Given the description of an element on the screen output the (x, y) to click on. 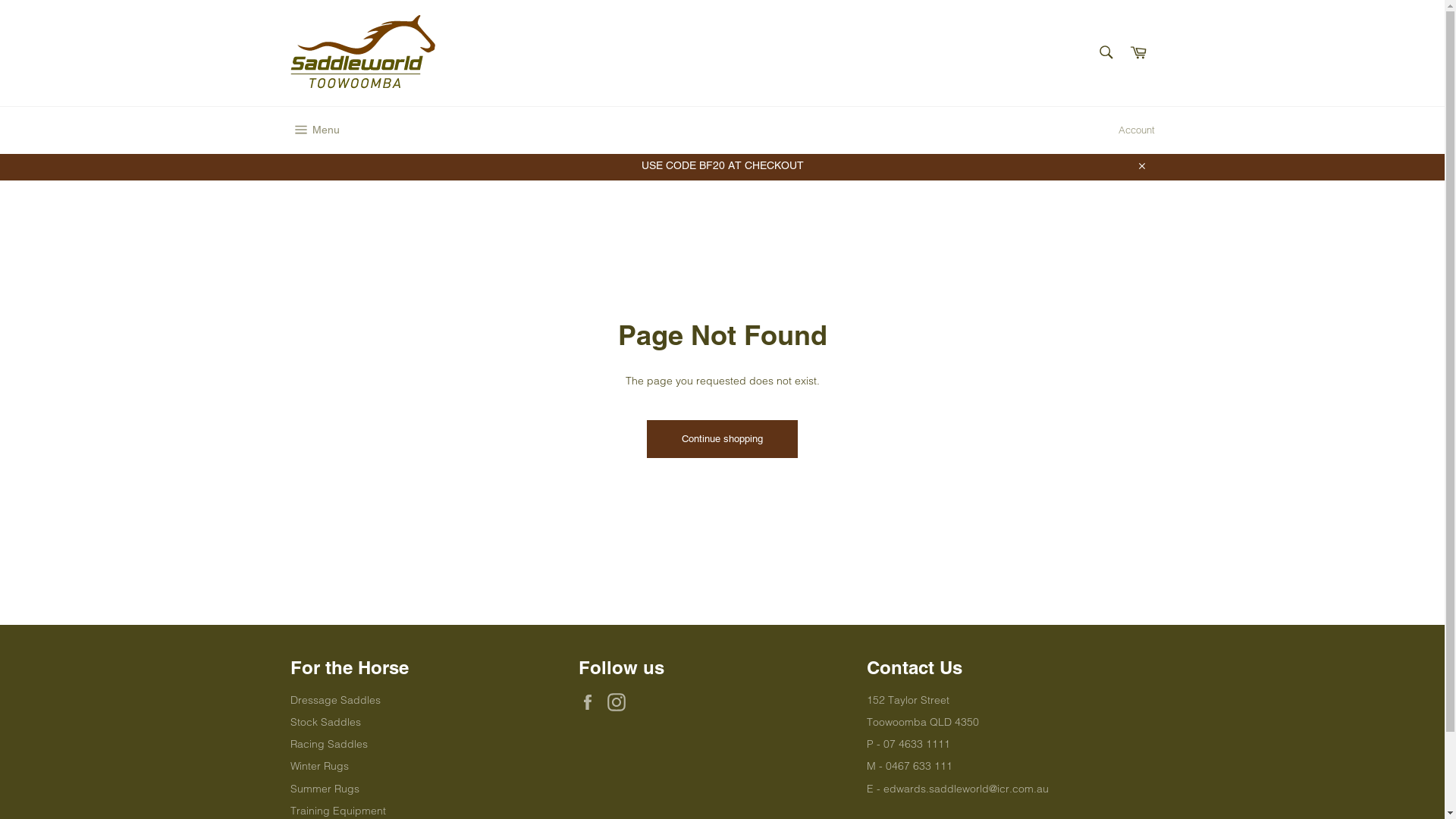
Instagram Element type: text (619, 702)
Dressage Saddles Element type: text (334, 699)
edwards.saddleworld@icr.com.au Element type: text (965, 788)
0467 633 111 Element type: text (918, 765)
Menu
Site navigation Element type: text (314, 129)
Facebook Element type: text (590, 702)
07 4633 1111 Element type: text (915, 743)
Winter Rugs Element type: text (318, 765)
Training Equipment Element type: text (337, 810)
Continue shopping Element type: text (721, 439)
Search Element type: text (1105, 52)
Racing Saddles Element type: text (328, 743)
Account Element type: text (1135, 130)
Summer Rugs Element type: text (323, 788)
Close Element type: text (1140, 165)
Stock Saddles Element type: text (324, 721)
Cart Element type: text (1138, 53)
